Given the description of an element on the screen output the (x, y) to click on. 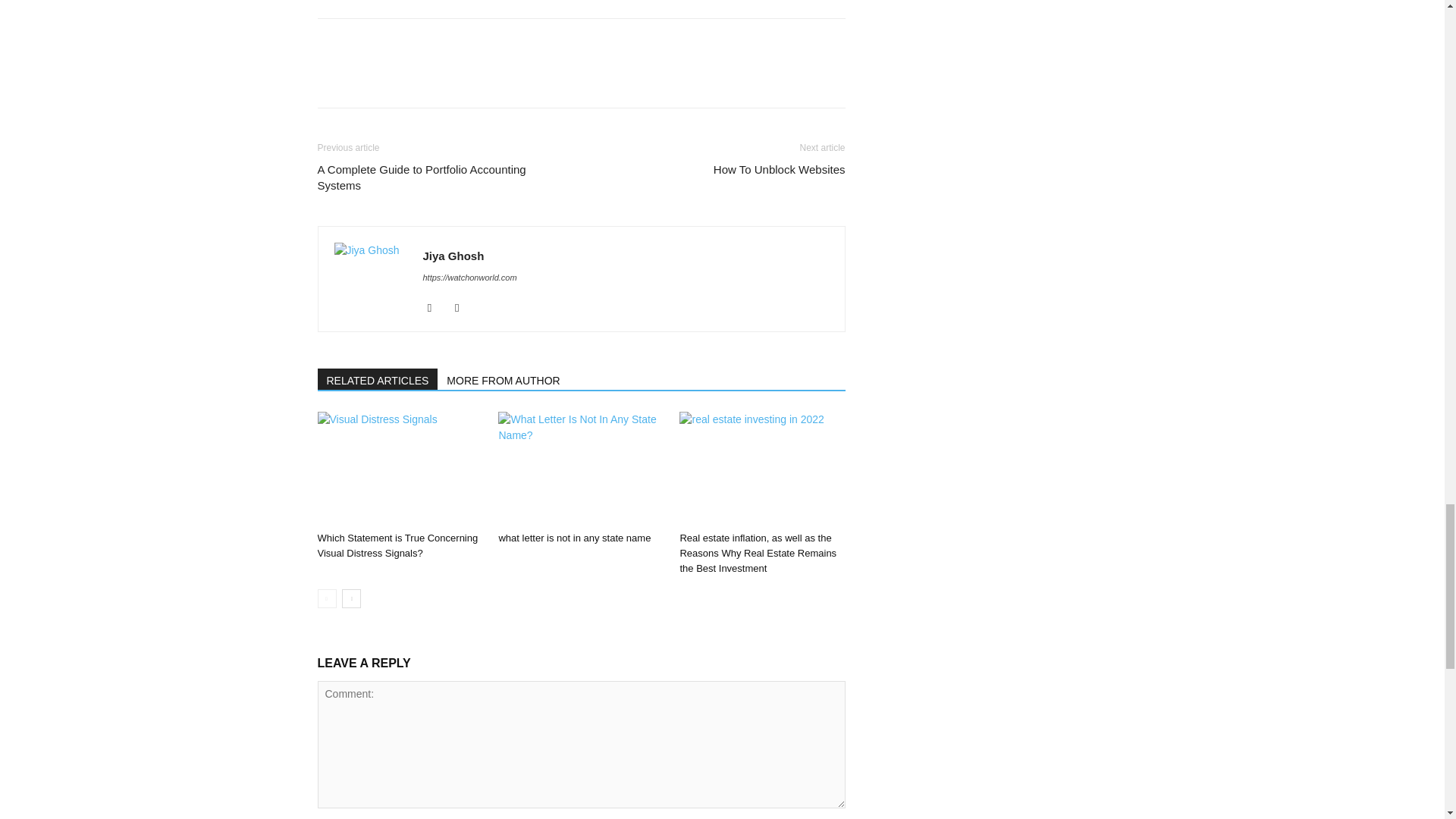
bottomFacebookLike (430, 42)
